Given the description of an element on the screen output the (x, y) to click on. 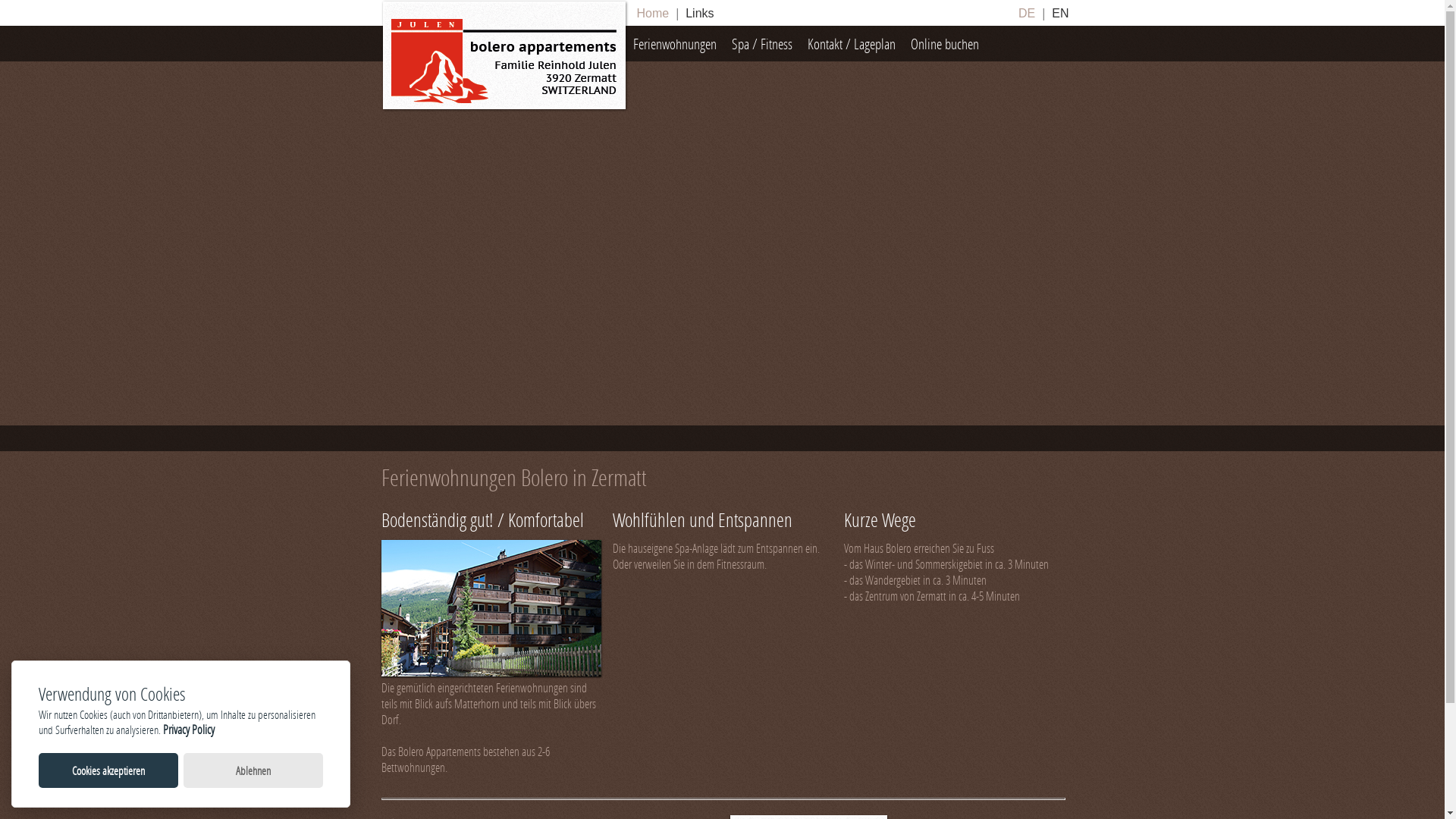
Ferienwohnungen Element type: text (673, 43)
DE Element type: text (1026, 12)
Spa / Fitness Element type: text (761, 43)
EN Element type: text (1060, 12)
Ablehnen Element type: text (253, 770)
Home Element type: text (652, 12)
Cookies akzeptieren Element type: text (108, 770)
Privacy Policy Element type: text (188, 729)
Kontakt / Lageplan Element type: text (850, 43)
Links Element type: text (699, 12)
Online buchen Element type: text (943, 43)
